Given the description of an element on the screen output the (x, y) to click on. 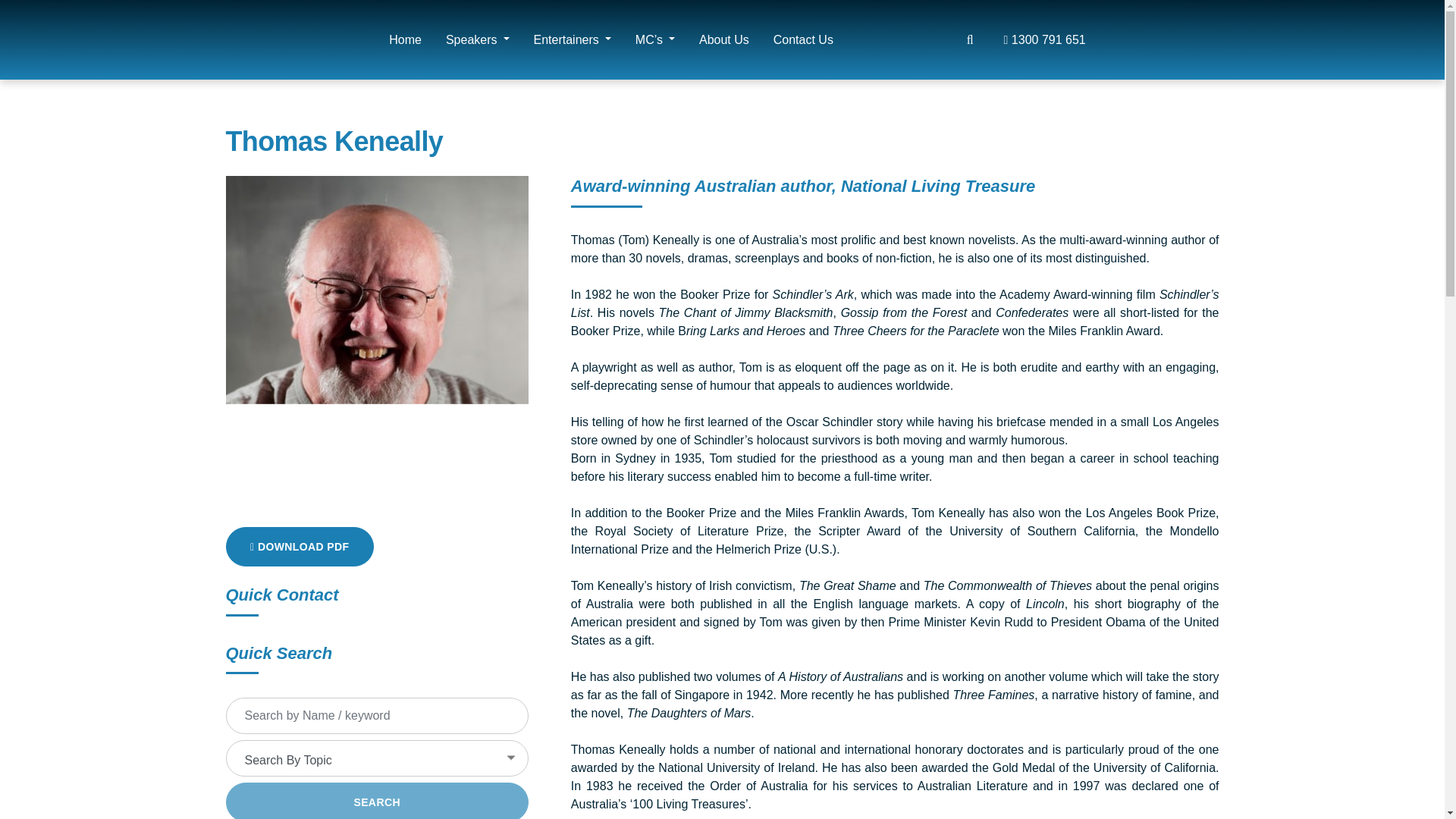
Search (376, 800)
Entertainers (572, 39)
Contact Us (796, 39)
Speakers (477, 39)
Entertainers (572, 39)
Speakers (477, 39)
About Us (724, 39)
Home (405, 39)
1300 791 651 (1048, 39)
Search (922, 24)
